Given the description of an element on the screen output the (x, y) to click on. 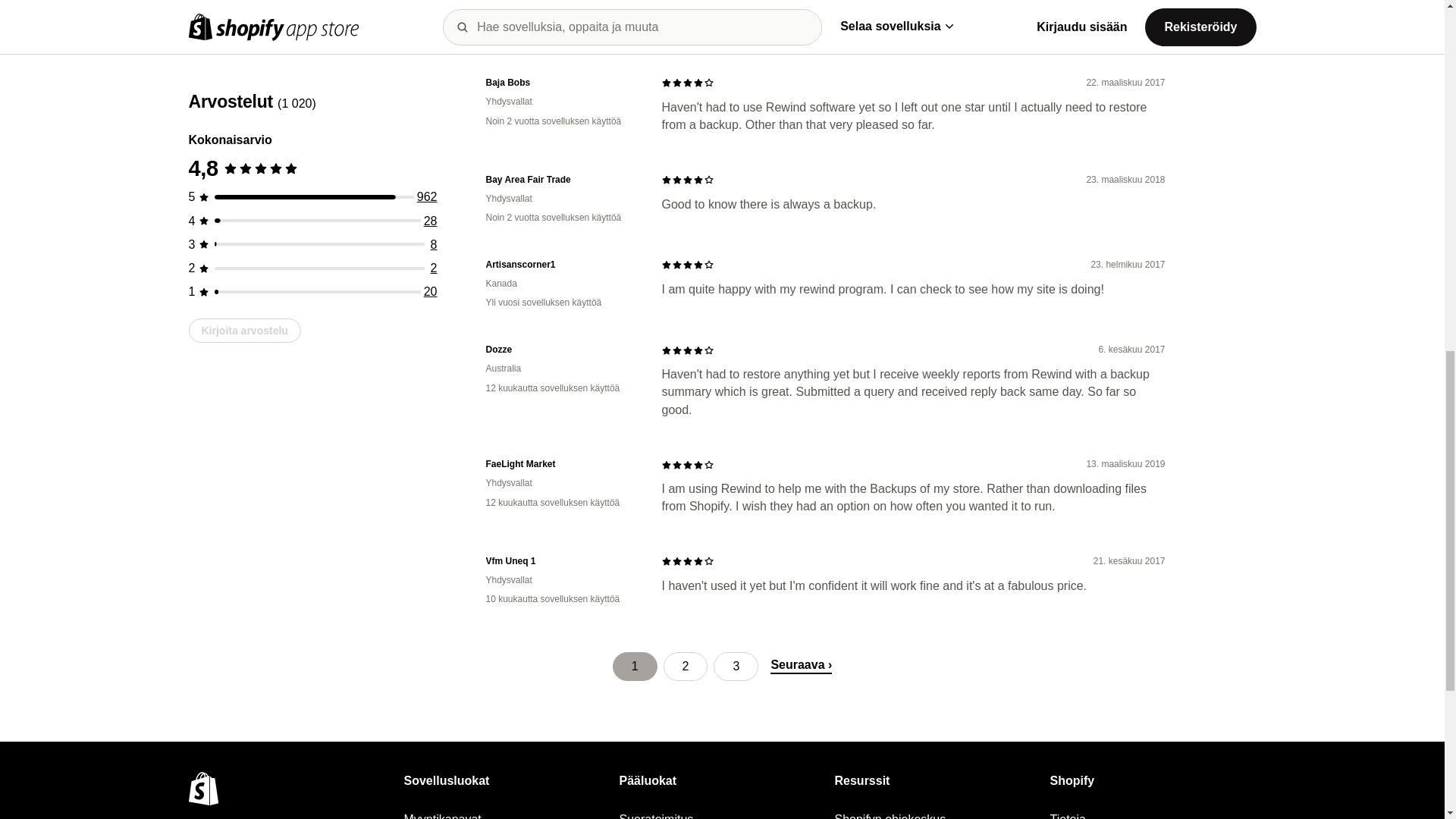
Baja Bobs (560, 82)
Artisanscorner1 (560, 264)
Bay Area Fair Trade (560, 179)
Dozze (560, 349)
Vfm Uneq 1 (560, 561)
FaeLight Market (560, 463)
